Given the description of an element on the screen output the (x, y) to click on. 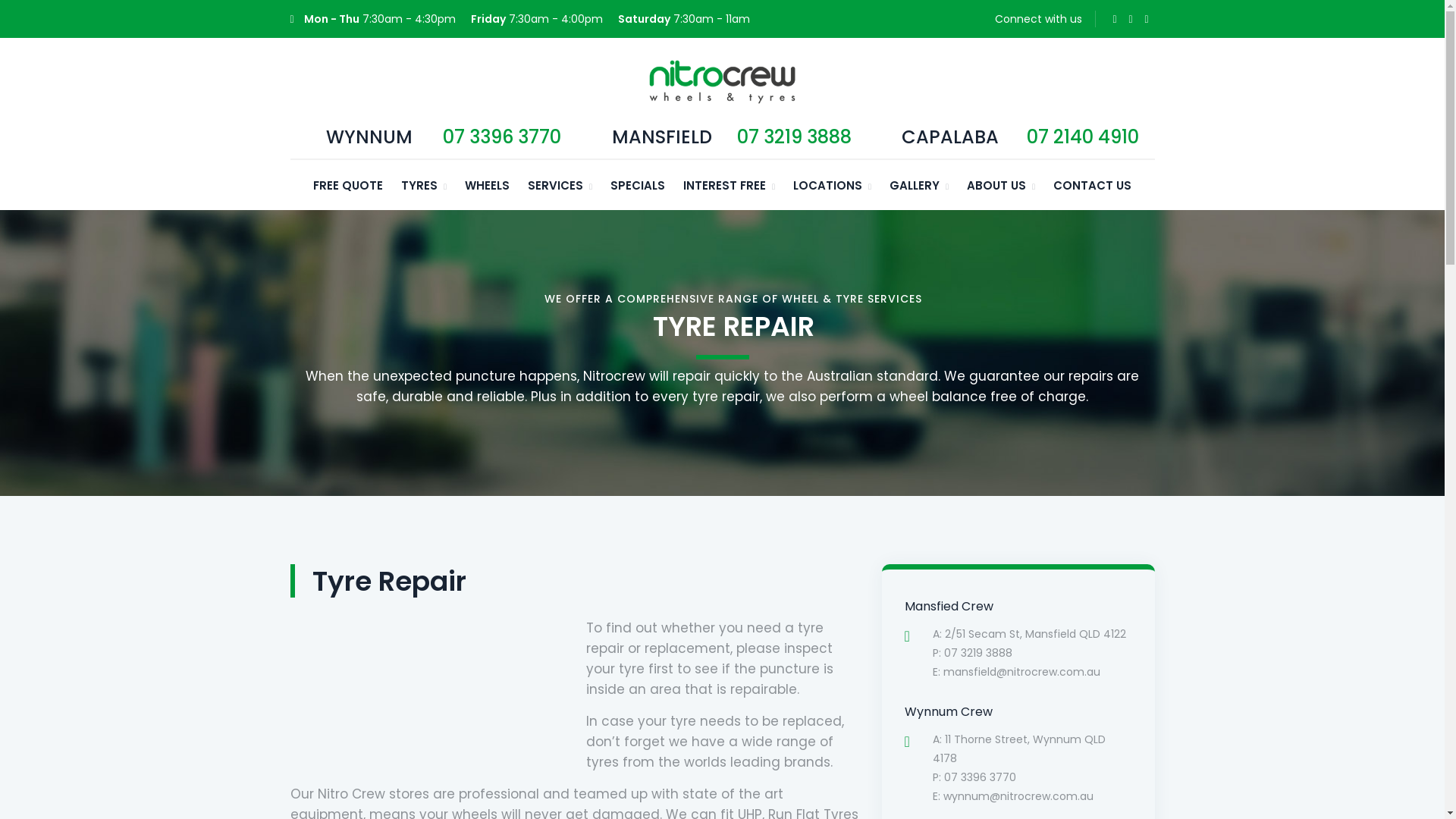
TYRES Element type: text (423, 184)
ABOUT US Element type: text (1000, 184)
GALLERY Element type: text (918, 184)
SPECIALS Element type: text (637, 185)
CAPALABA
07 2140 4910 Element type: text (1010, 141)
WYNNUM
07 3396 3770 Element type: text (434, 141)
LOCATIONS Element type: text (832, 184)
INTEREST FREE Element type: text (729, 184)
Connect with us Element type: text (1038, 18)
FREE QUOTE Element type: text (348, 185)
CONTACT US Element type: text (1092, 185)
SERVICES Element type: text (559, 184)
WHEELS Element type: text (486, 185)
Nitrocrew Element type: hover (722, 80)
MANSFIELD
07 3219 3888 Element type: text (722, 141)
